Given the description of an element on the screen output the (x, y) to click on. 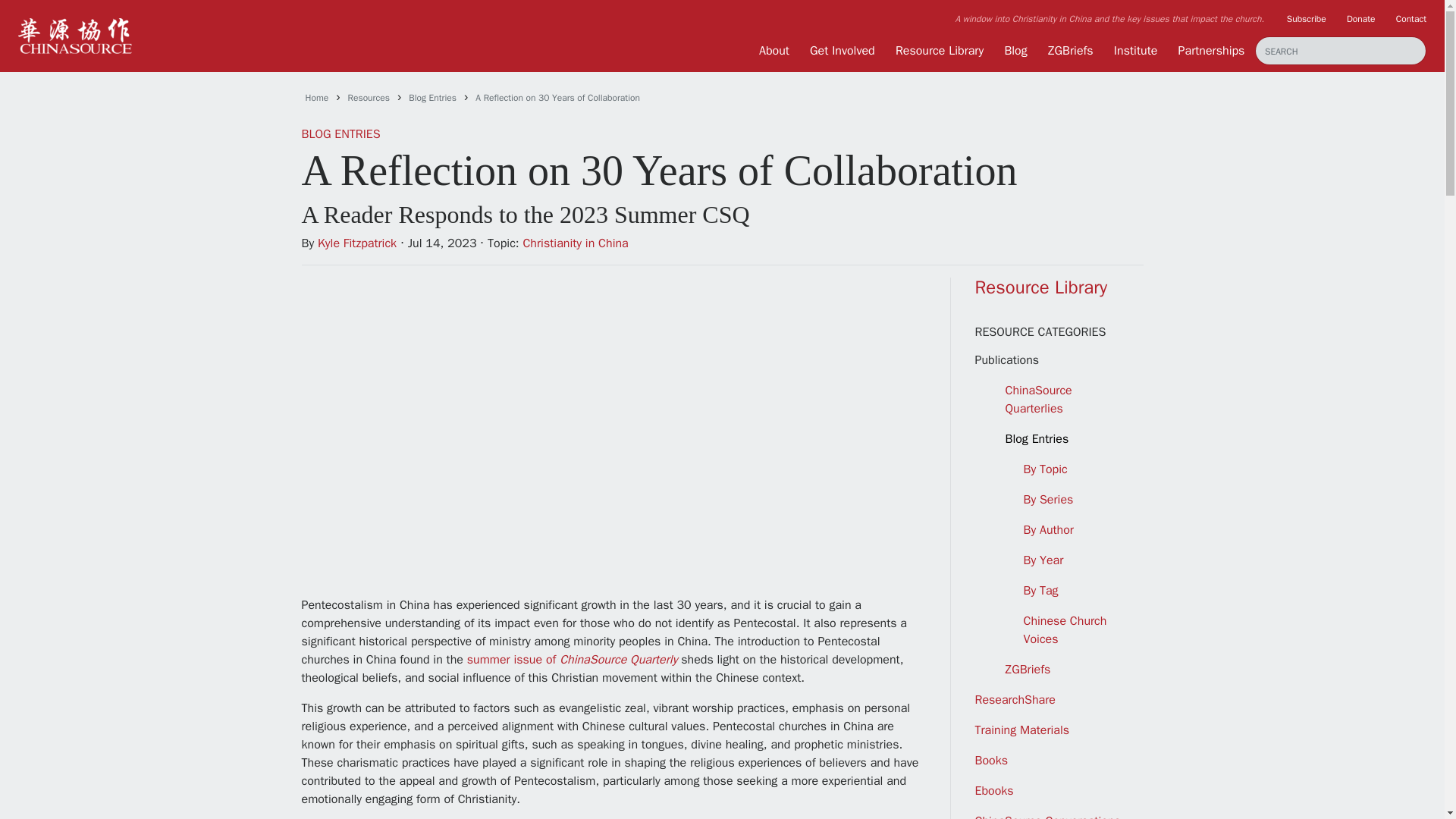
Resource Library (939, 50)
Blog (1015, 50)
About (773, 50)
Christianity in China (574, 242)
Donate (1360, 18)
Contact (1411, 18)
Institute (1135, 50)
Subscribe (1306, 18)
BLOG ENTRIES (340, 133)
Home (316, 97)
Blog Entries (433, 97)
Home (316, 97)
summer issue of ChinaSource Quarterly (572, 659)
Get Involved (842, 50)
Partnerships (1210, 50)
